Given the description of an element on the screen output the (x, y) to click on. 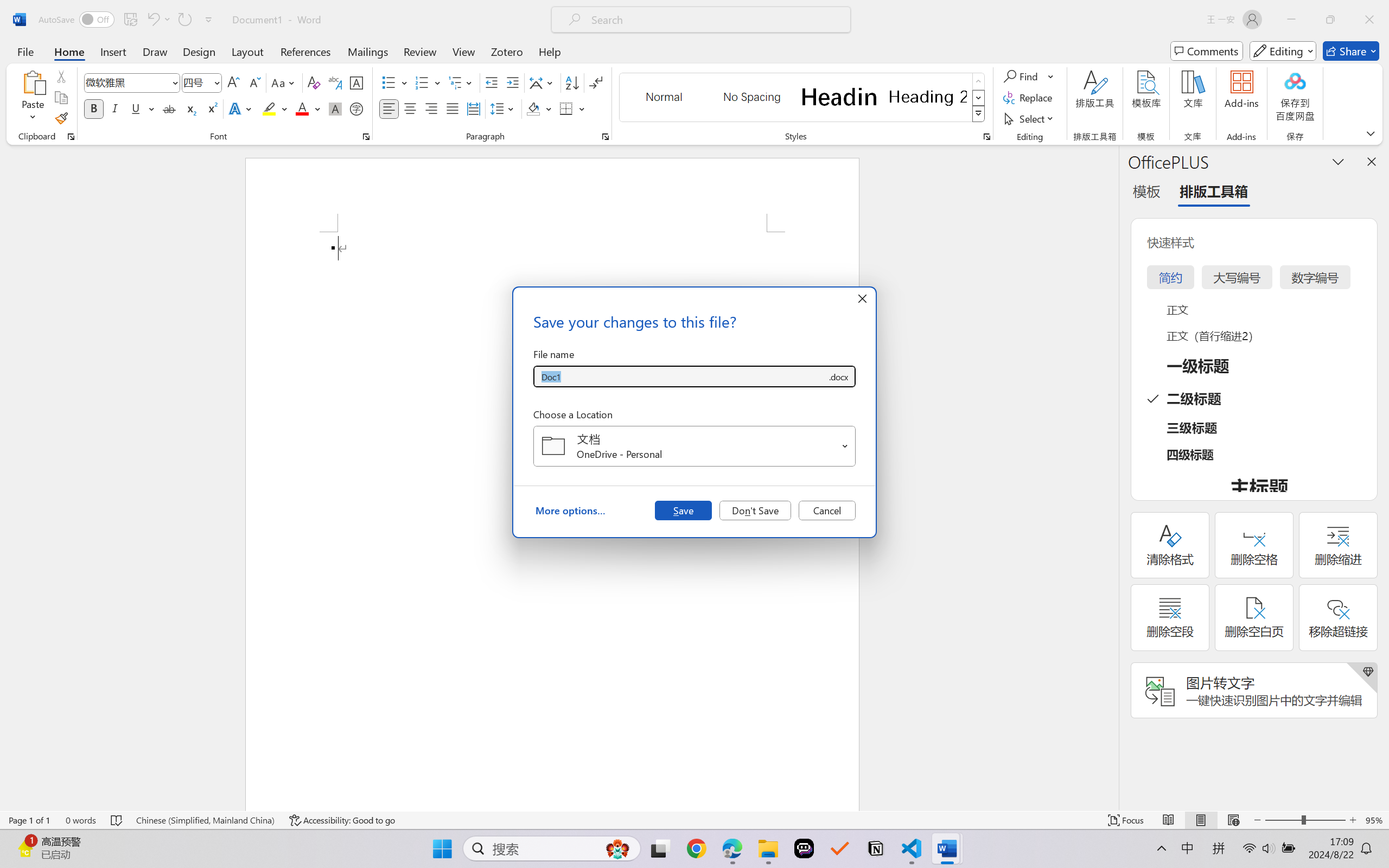
Language Chinese (Simplified, Mainland China) (205, 819)
